Given the description of an element on the screen output the (x, y) to click on. 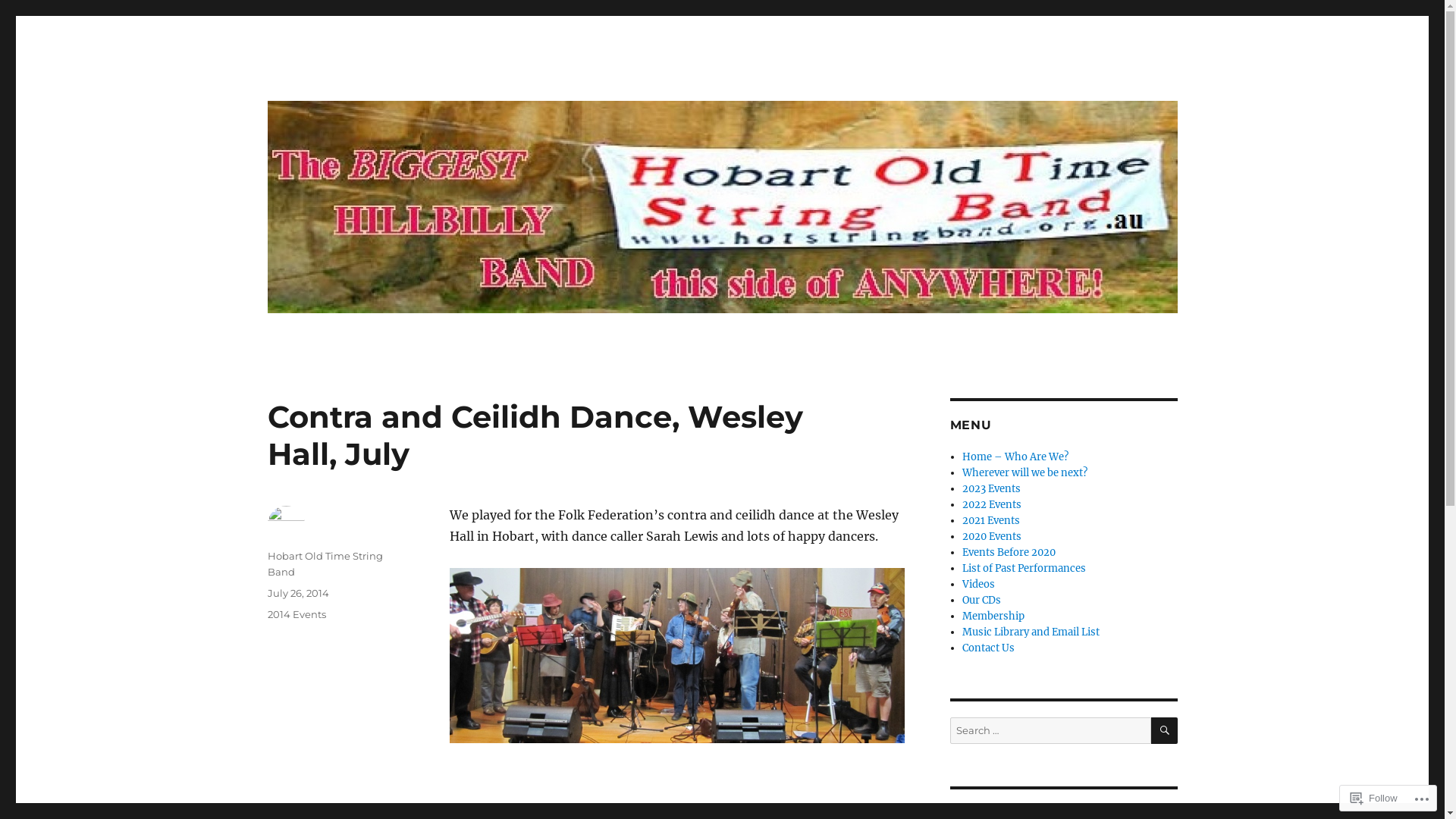
Membership Element type: text (993, 615)
2022 Events Element type: text (991, 504)
2020 Events Element type: text (991, 536)
Our CDs Element type: text (981, 599)
July 26, 2014 Element type: text (297, 592)
Contact Us Element type: text (988, 647)
Music Library and Email List Element type: text (1030, 631)
2014 Events Element type: text (295, 614)
Wherever will we be next? Element type: text (1024, 472)
2023 Events Element type: text (991, 488)
HOT String Band Element type: text (359, 92)
2021 Events Element type: text (990, 520)
Hobart Old Time String Band Element type: text (324, 563)
Videos Element type: text (978, 583)
Follow Element type: text (1373, 797)
List of Past Performances Element type: text (1023, 567)
Events Before 2020 Element type: text (1008, 552)
